Given the description of an element on the screen output the (x, y) to click on. 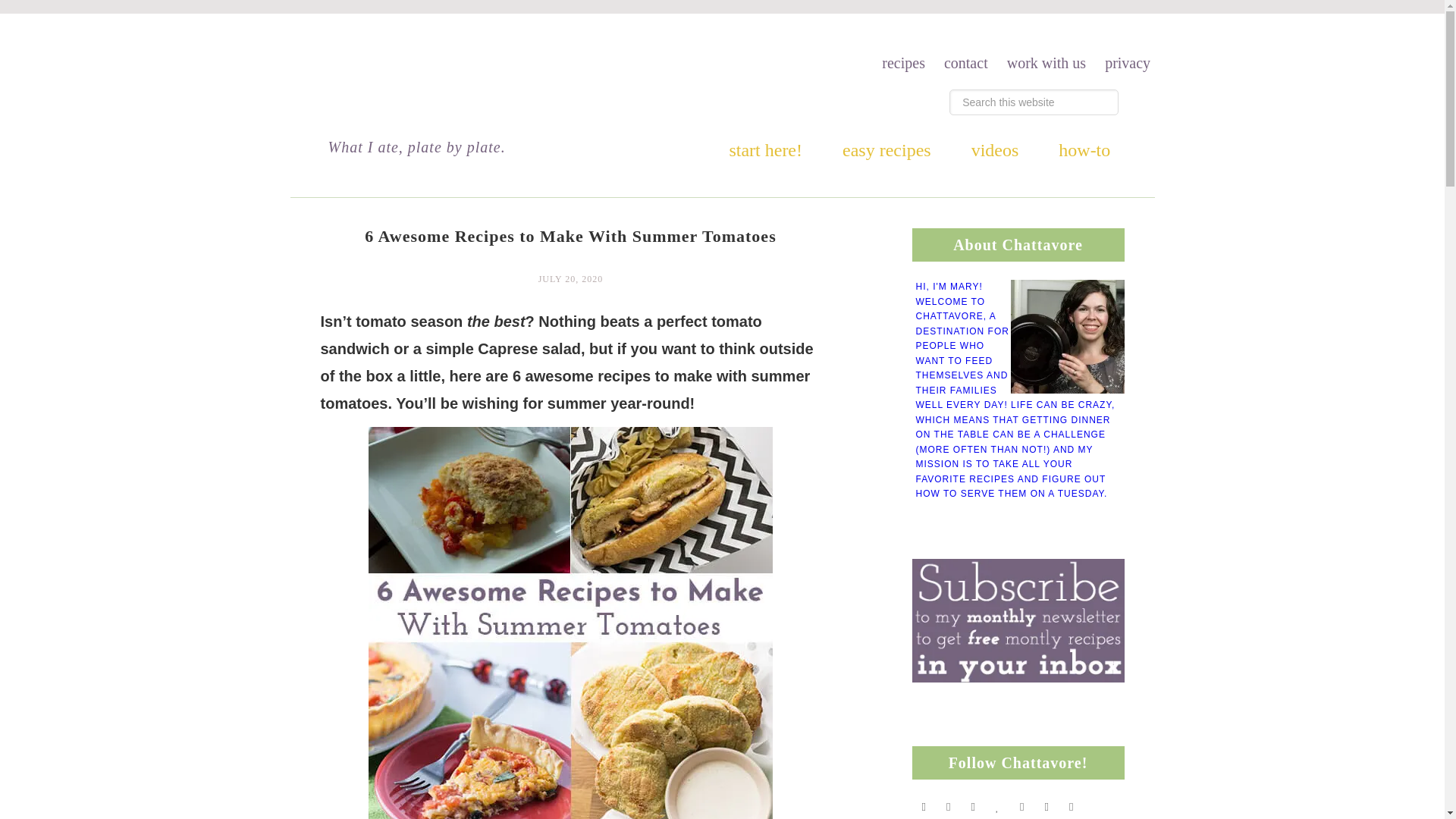
start here! (765, 145)
Twitter (923, 806)
Subscribe (1071, 806)
privacy (1127, 62)
Facebook (972, 806)
recipes (904, 62)
videos (994, 145)
Chattavore (472, 100)
Email (1045, 806)
